Given the description of an element on the screen output the (x, y) to click on. 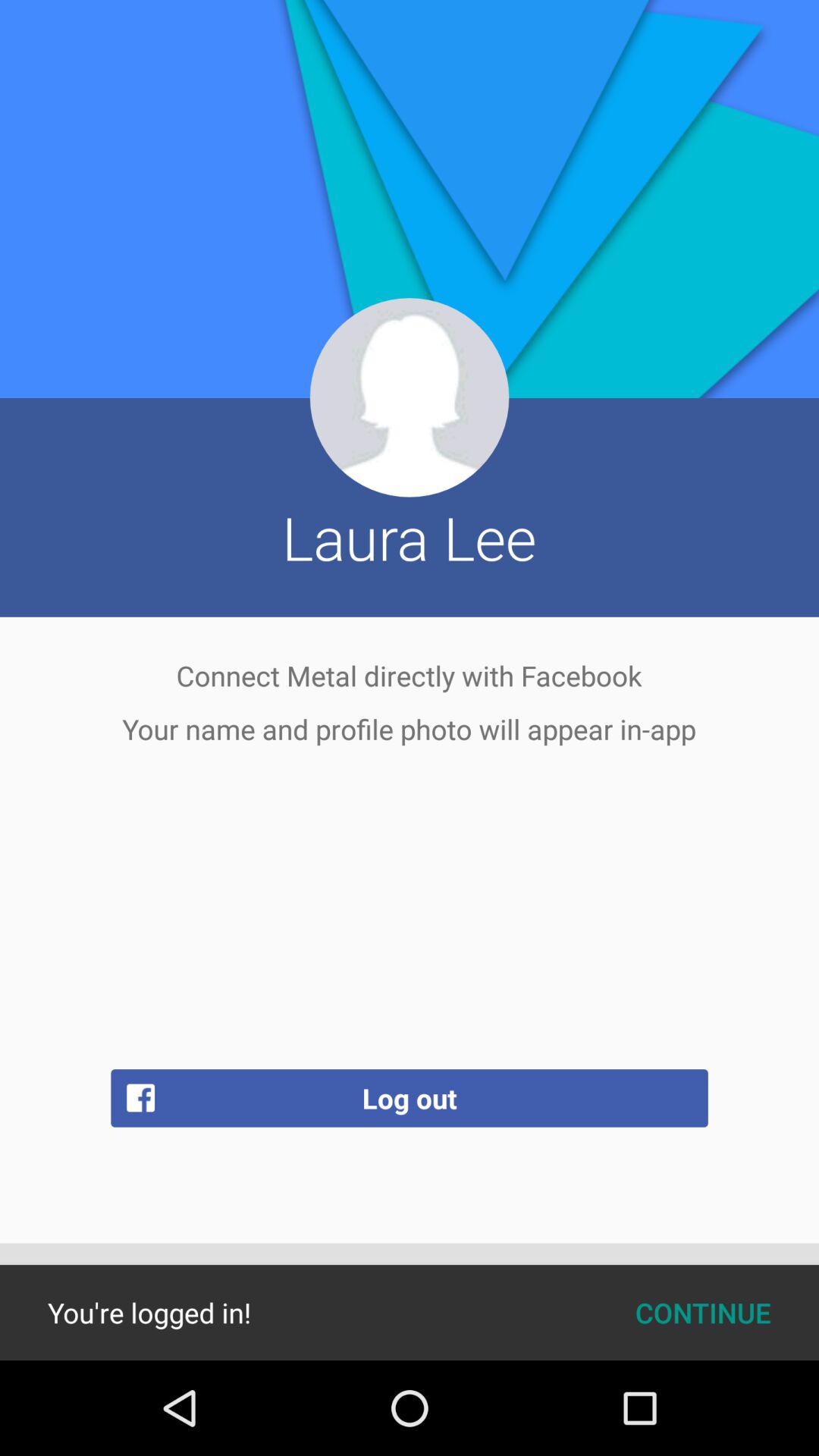
open app below the your name and icon (409, 1098)
